Given the description of an element on the screen output the (x, y) to click on. 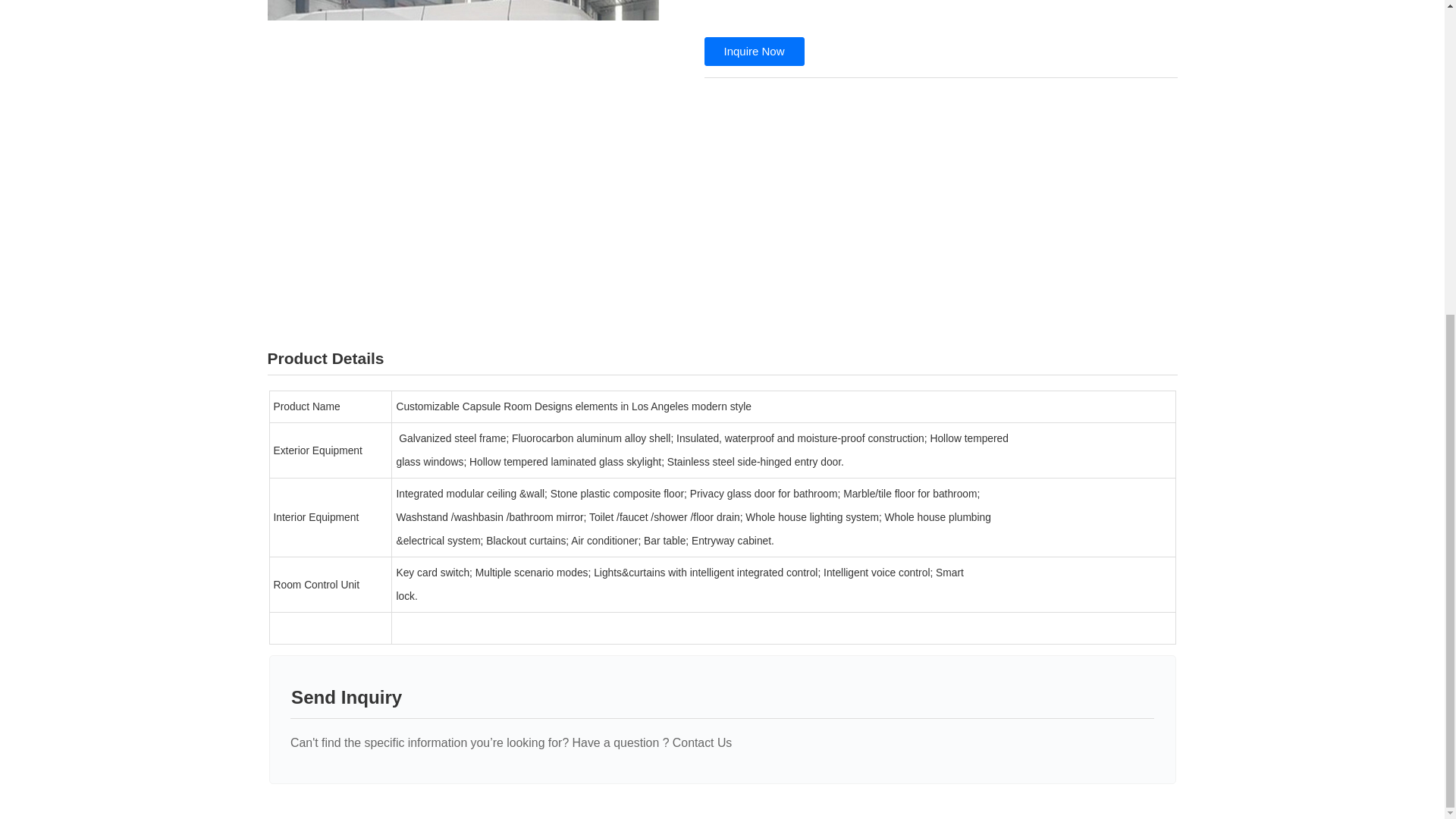
Inquire Now (753, 51)
